Given the description of an element on the screen output the (x, y) to click on. 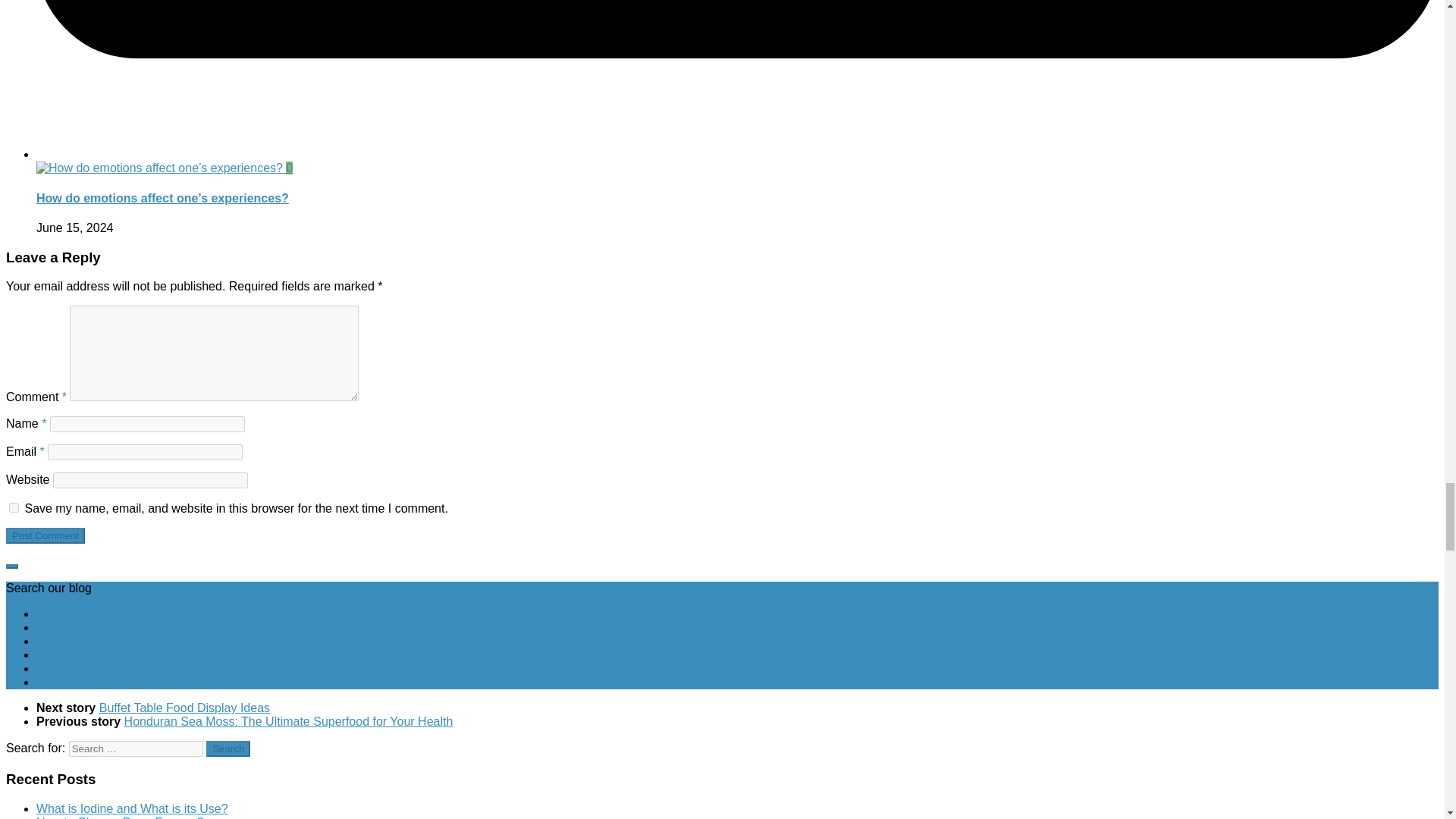
yes (13, 507)
Search (228, 748)
Search (228, 748)
Post Comment (44, 535)
Expand Sidebar (11, 566)
